Given the description of an element on the screen output the (x, y) to click on. 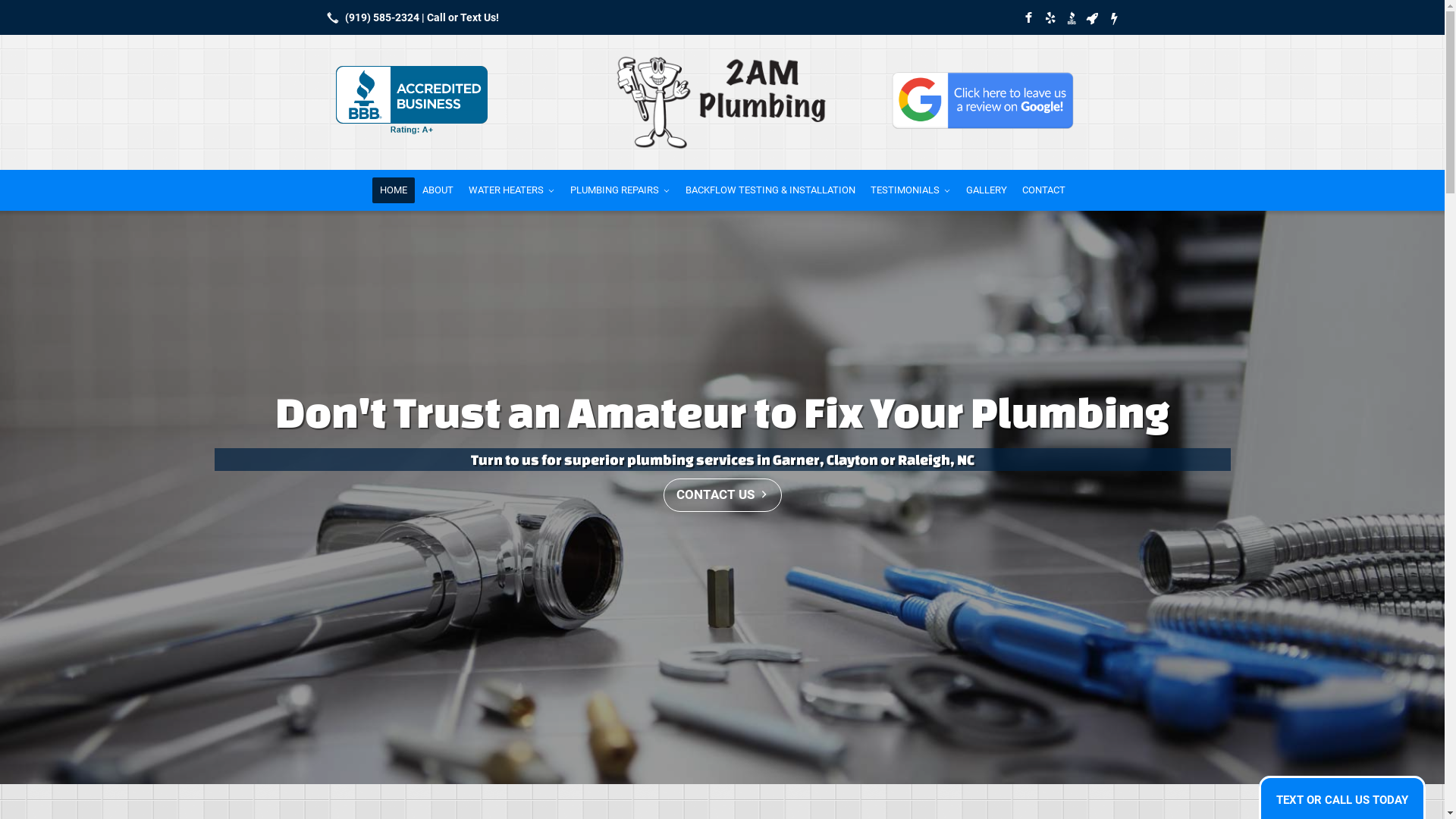
Facebook Element type: hover (1027, 17)
Porch Element type: hover (1112, 17)
BACKFLOW TESTING & INSTALLATION Element type: text (769, 190)
ABOUT Element type: text (437, 190)
CONTACT Element type: text (1043, 190)
BBB Element type: hover (1070, 17)
Yelp Element type: hover (1049, 17)
Manta Element type: hover (1091, 17)
TEXT OR CALL US TODAY Element type: text (1342, 800)
HOME Element type: text (392, 190)
CONTACT US Element type: text (721, 494)
Don't Trust an Amateur to Fix Your Plumbing Element type: text (722, 411)
(919) 585-2324 Element type: hover (409, 17)
GALLERY Element type: text (986, 190)
